Given the description of an element on the screen output the (x, y) to click on. 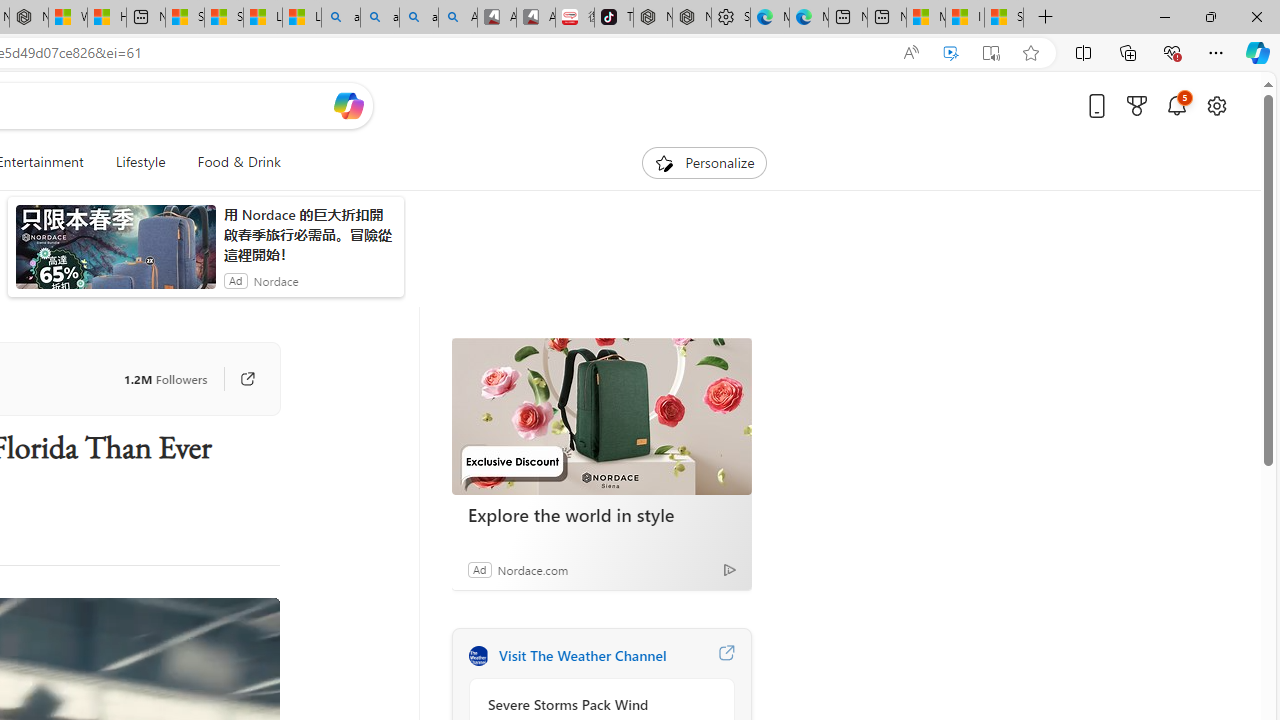
Enhance video (950, 53)
Explore the world in style (601, 515)
Microsoft rewards (1137, 105)
Lifestyle (139, 162)
I Gained 20 Pounds of Muscle in 30 Days! | Watch (964, 17)
anim-content (115, 255)
Explore the world in style (601, 416)
TikTok (614, 17)
Enter Immersive Reader (F9) (991, 53)
